Given the description of an element on the screen output the (x, y) to click on. 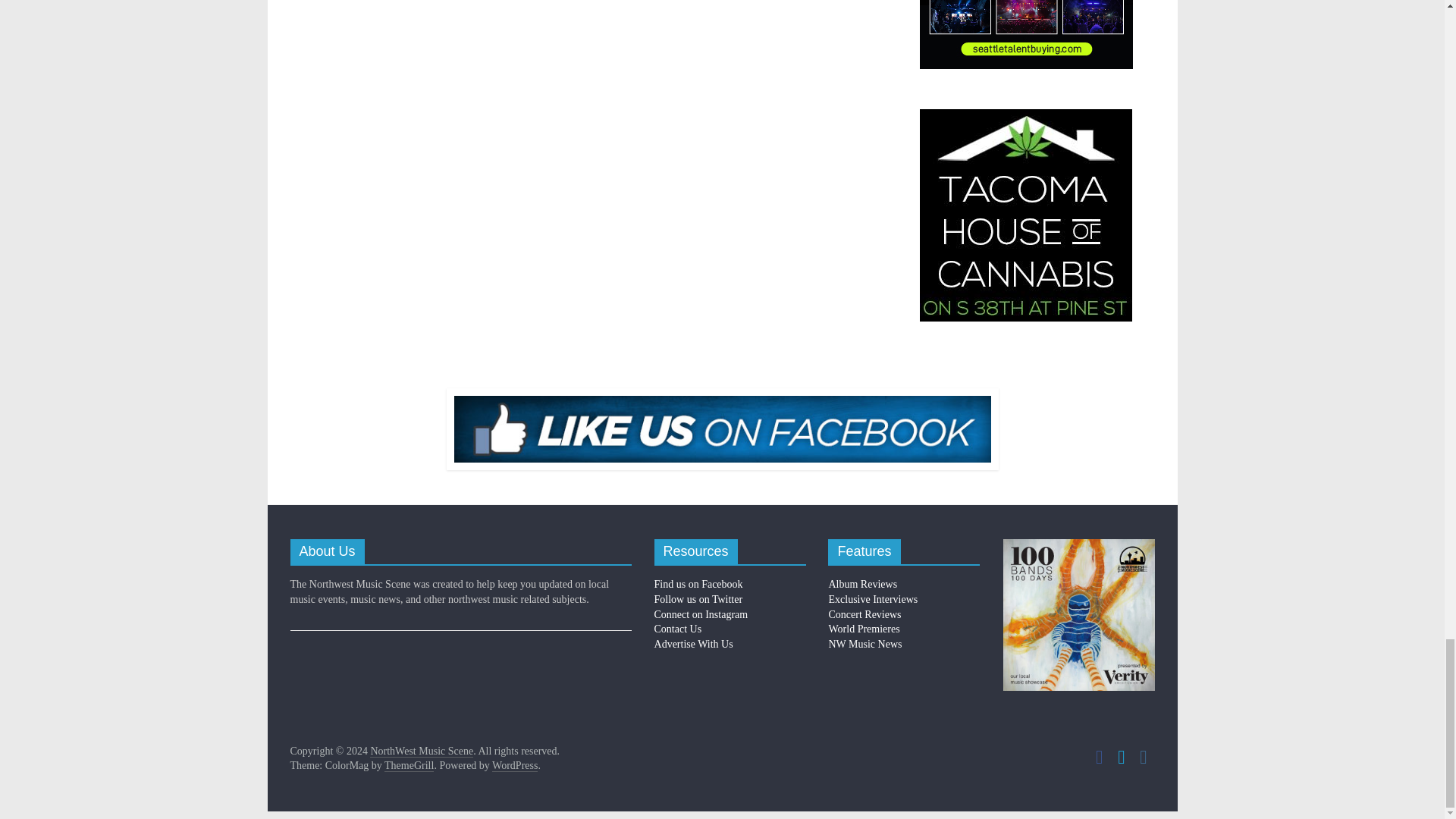
WordPress (514, 766)
ThemeGrill (408, 766)
NorthWest Music Scene (421, 751)
